Given the description of an element on the screen output the (x, y) to click on. 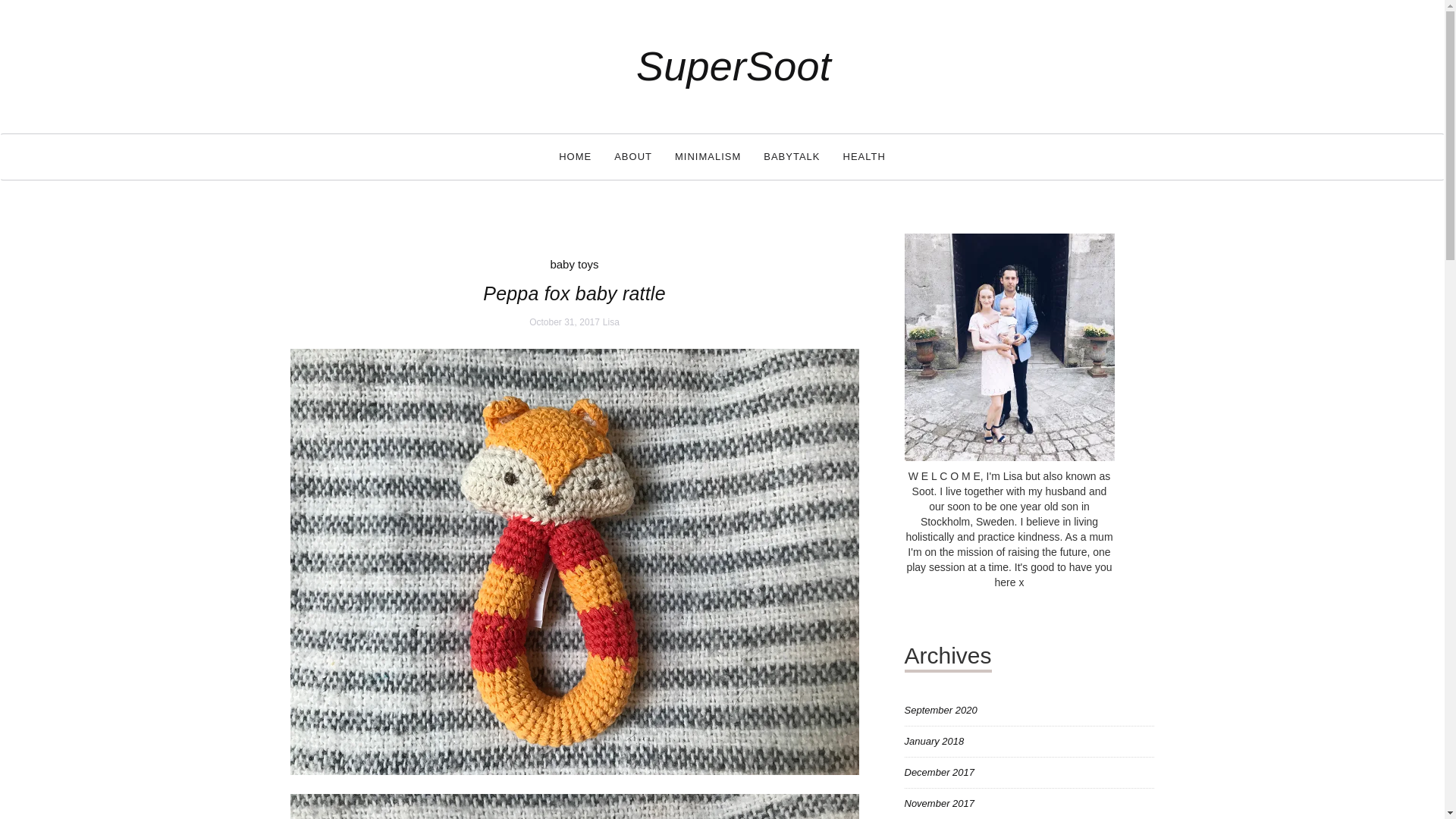
BABYTALK (791, 156)
HEALTH (863, 156)
Minimalism (707, 156)
November 2017 (939, 803)
baby toys (574, 264)
MINIMALISM (707, 156)
SuperSoot (733, 65)
Posts by Lisa (611, 321)
ABOUT (632, 156)
Babytalk (791, 156)
